Given the description of an element on the screen output the (x, y) to click on. 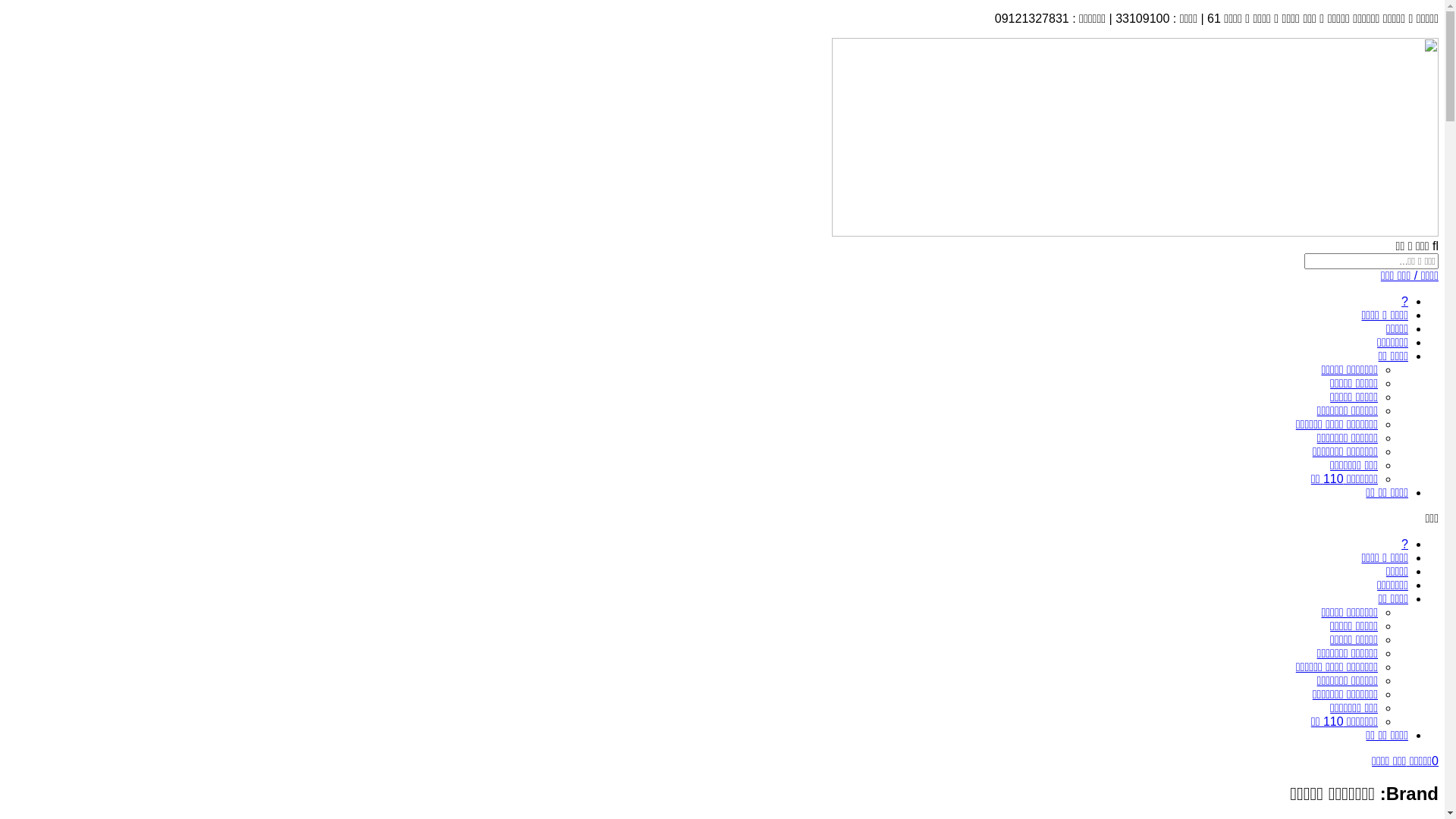
? Element type: text (1404, 300)
? Element type: text (1404, 543)
